Given the description of an element on the screen output the (x, y) to click on. 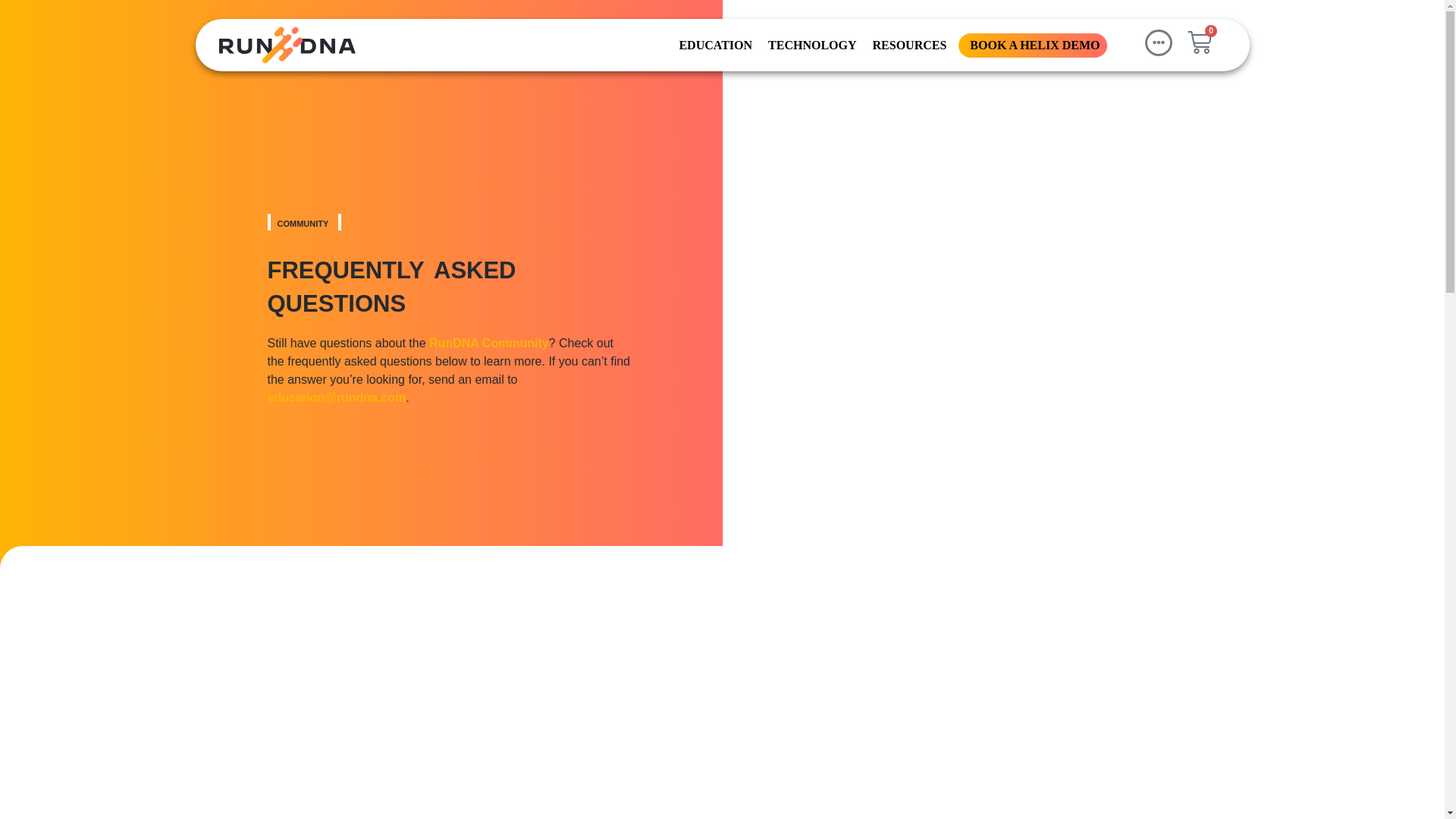
TECHNOLOGY (810, 44)
BOOK A HELIX DEMO (1032, 44)
RESOURCES (908, 44)
EDUCATION (713, 44)
